Given the description of an element on the screen output the (x, y) to click on. 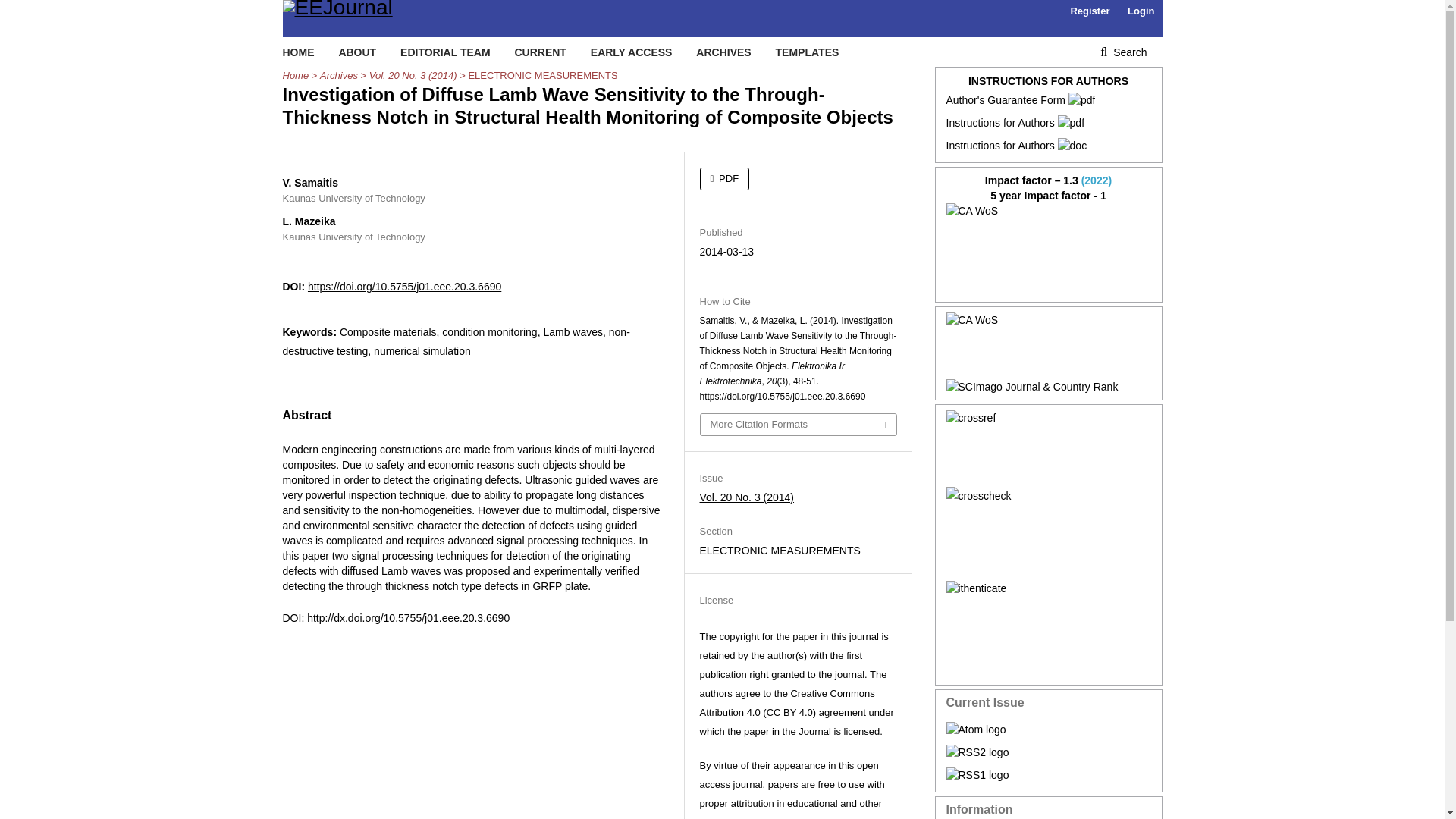
EDITORIAL TEAM (445, 51)
More Citation Formats (798, 424)
PDF (723, 178)
Register (1089, 11)
HOME (298, 51)
CURRENT (539, 51)
TEMPLATES (808, 51)
Login (1140, 11)
Search (1122, 51)
ARCHIVES (723, 51)
EARLY ACCESS (631, 51)
Journal: Elektronika Ir Elektrotechnika (1048, 249)
Home (295, 75)
ABOUT (356, 51)
Journal: Elektronika Ir Elektrotechnika (1048, 346)
